Given the description of an element on the screen output the (x, y) to click on. 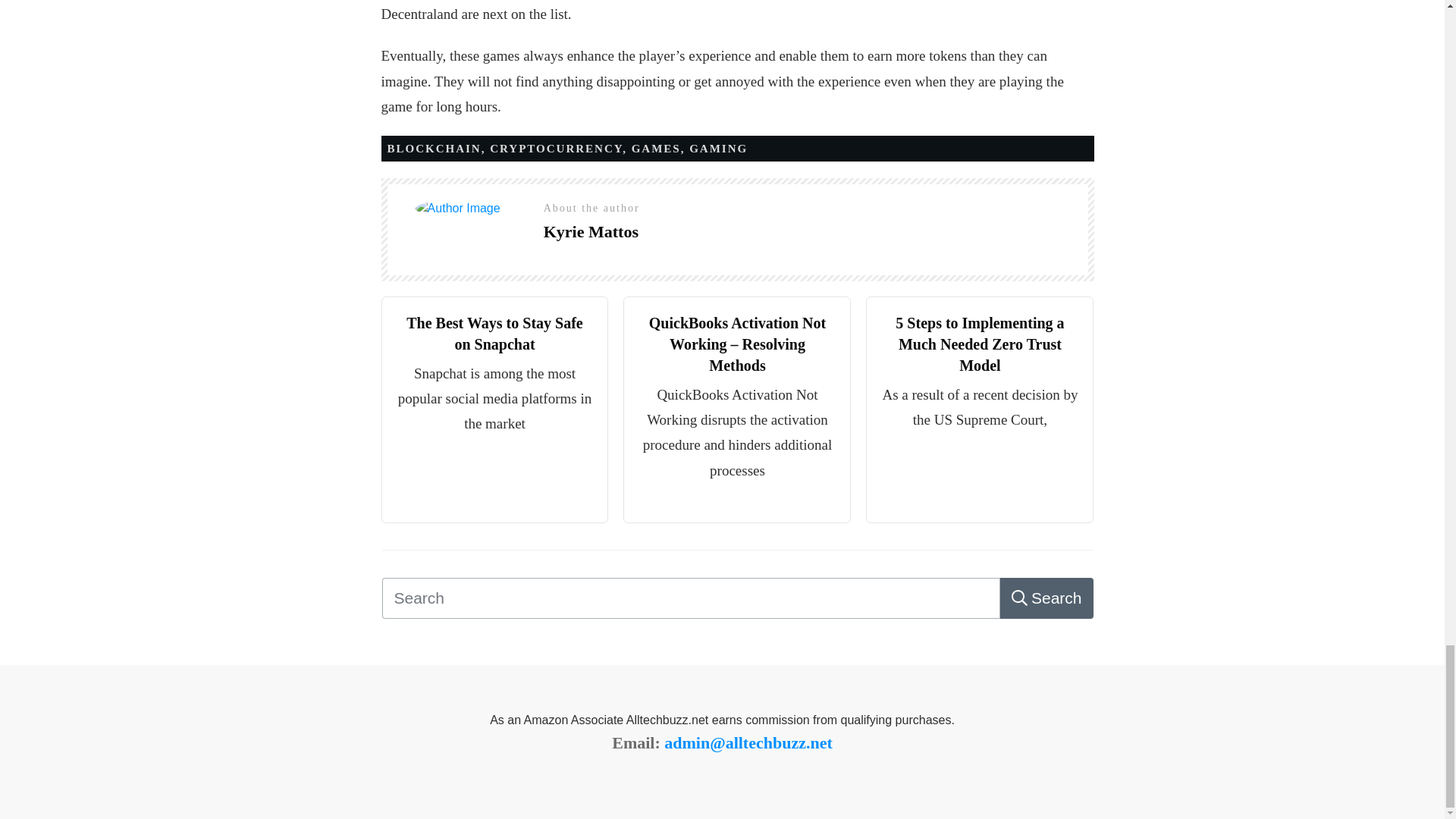
GAMES (656, 148)
BLOCKCHAIN (433, 148)
The Best Ways to Stay Safe on Snapchat (494, 333)
CRYPTOCURRENCY (556, 148)
The Best Ways to Stay Safe on Snapchat (494, 333)
5 Steps to Implementing a Much Needed Zero Trust Model (979, 343)
Search (1046, 598)
Gaming (718, 148)
GAMING (718, 148)
GAMES (656, 148)
